Given the description of an element on the screen output the (x, y) to click on. 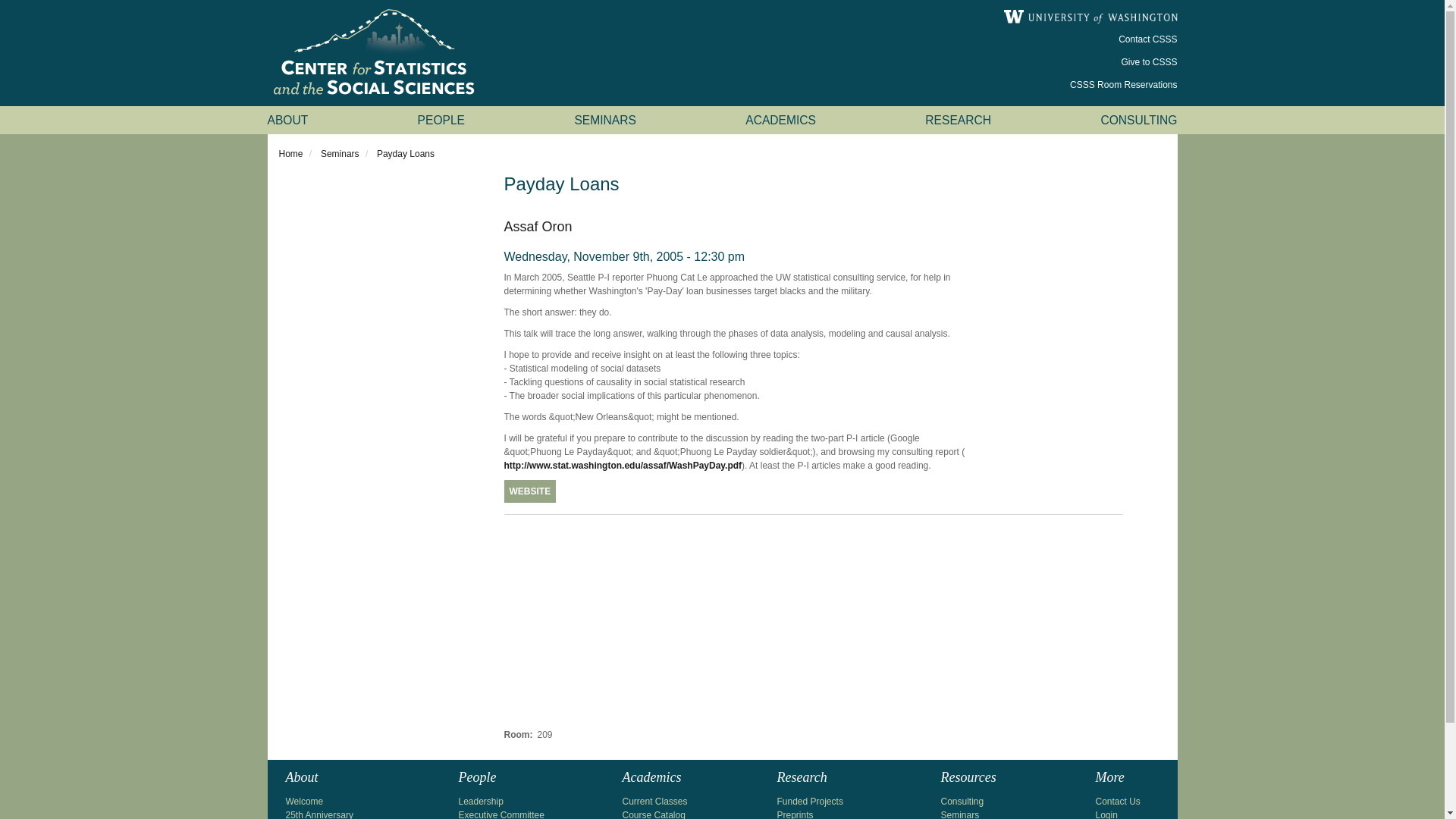
Course Catalog (652, 814)
ABOUT (286, 120)
ACADEMICS (780, 120)
RESEARCH (957, 120)
Leadership (480, 801)
Preprints (794, 814)
Seminars (339, 153)
Assaf Oron (537, 226)
Home (290, 153)
